Given the description of an element on the screen output the (x, y) to click on. 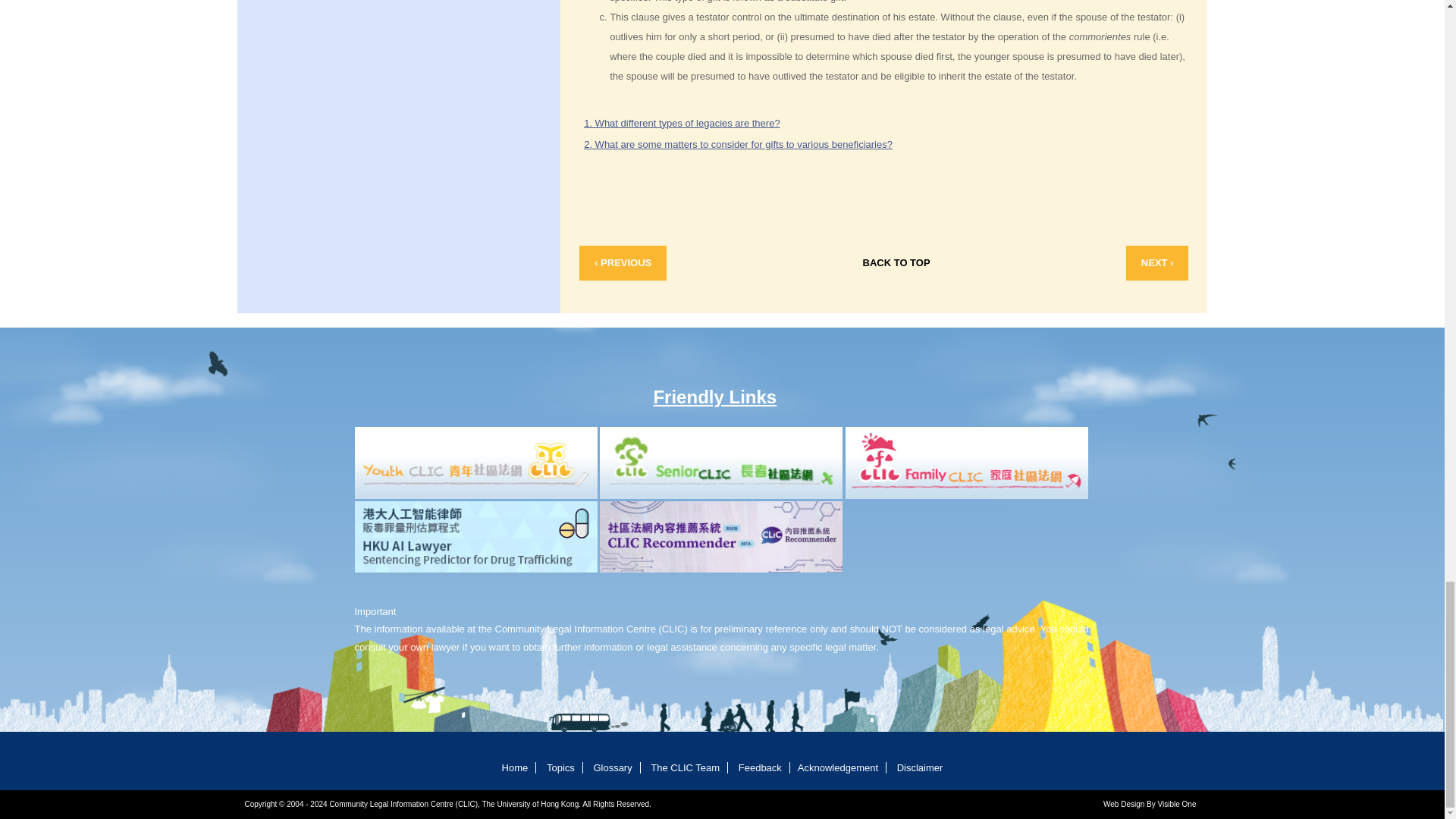
Go to parent page (895, 262)
Go to previous page (622, 262)
1. What different types of legacies are there? (680, 122)
BACK TO TOP (895, 262)
Go to next page (1157, 262)
